Given the description of an element on the screen output the (x, y) to click on. 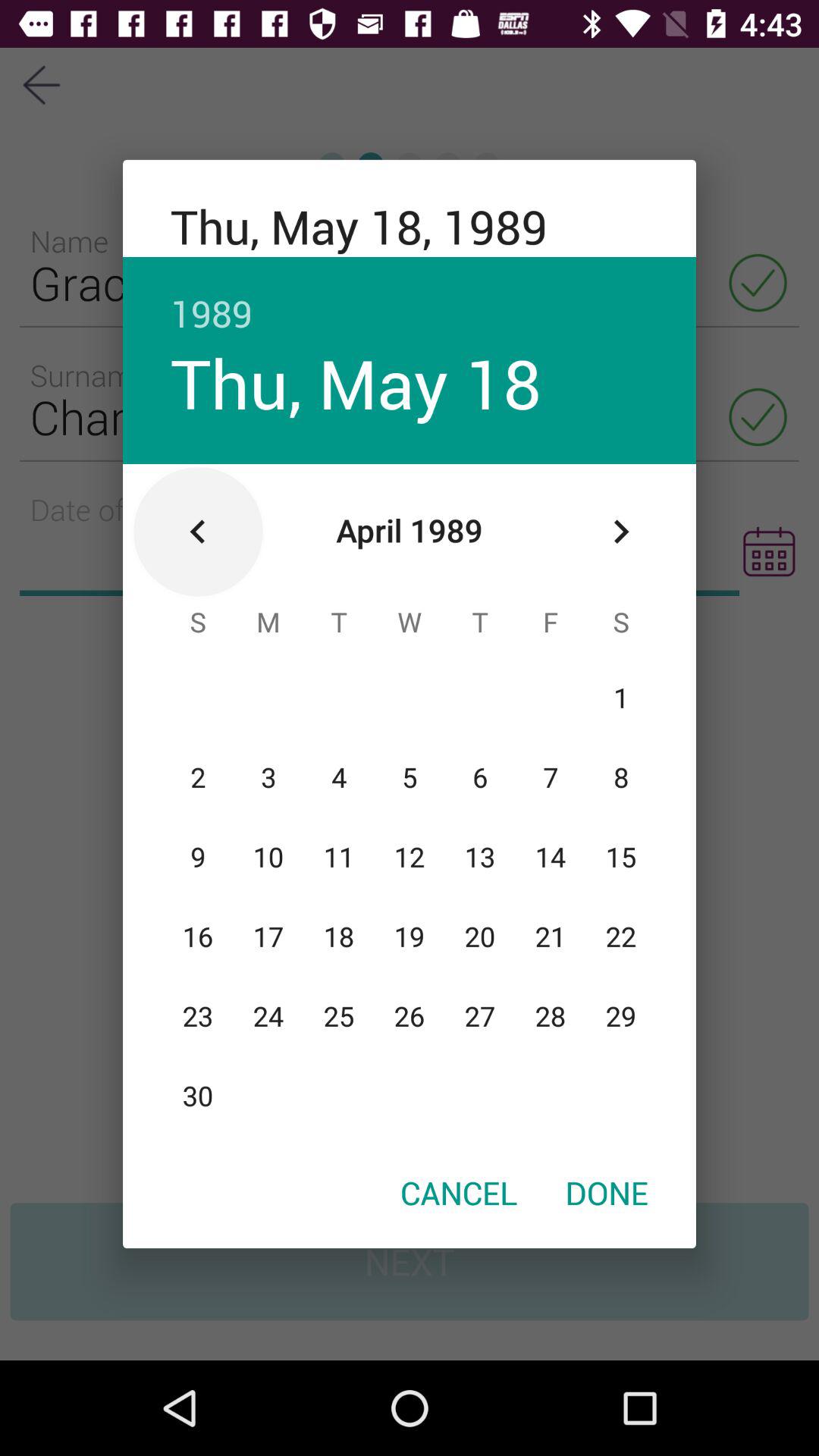
turn off item to the left of done icon (458, 1192)
